Given the description of an element on the screen output the (x, y) to click on. 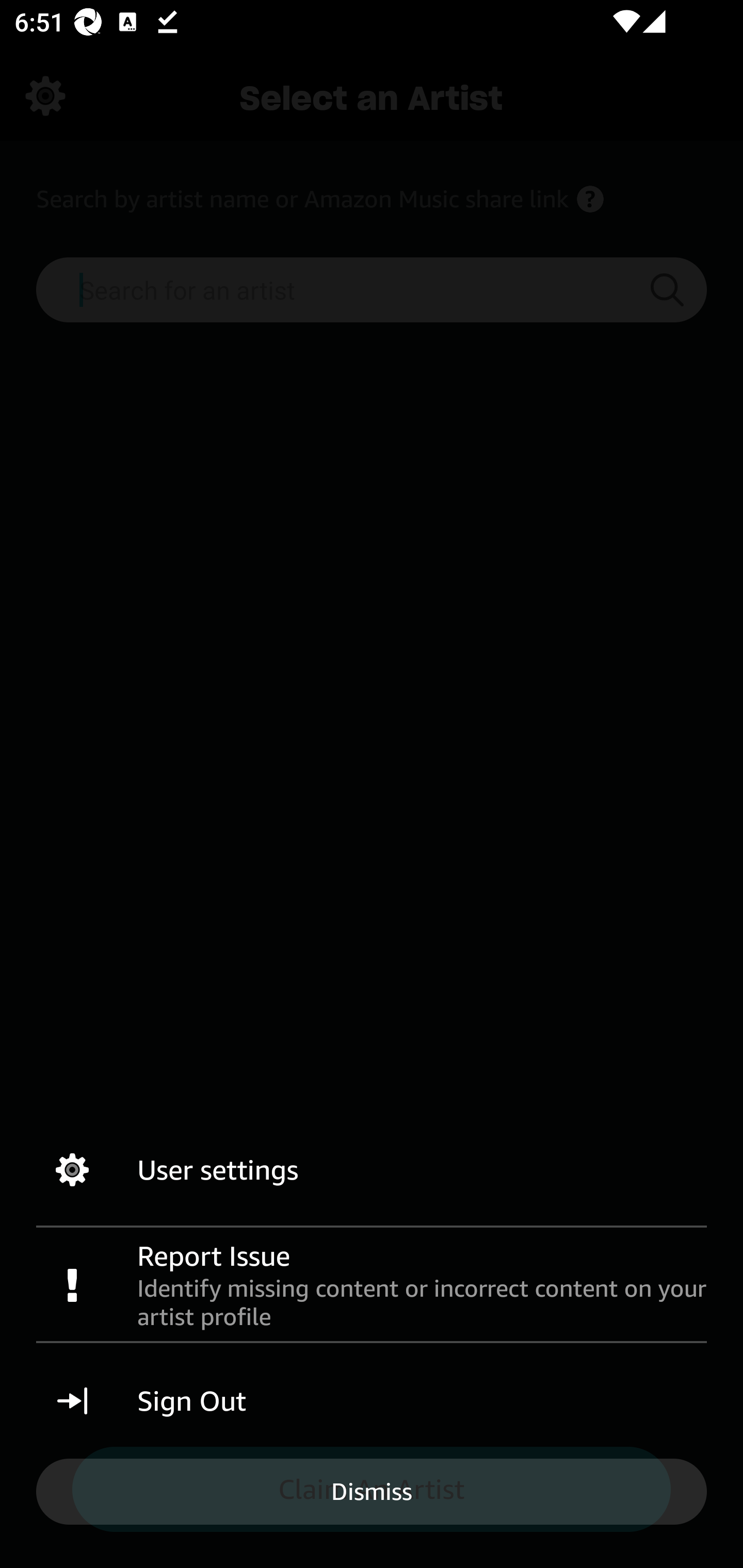
User settings  icon User settings User settings (371, 1169)
Sign Out  icon Sign Out Sign Out (371, 1400)
Dismiss button Dismiss (371, 1491)
